Given the description of an element on the screen output the (x, y) to click on. 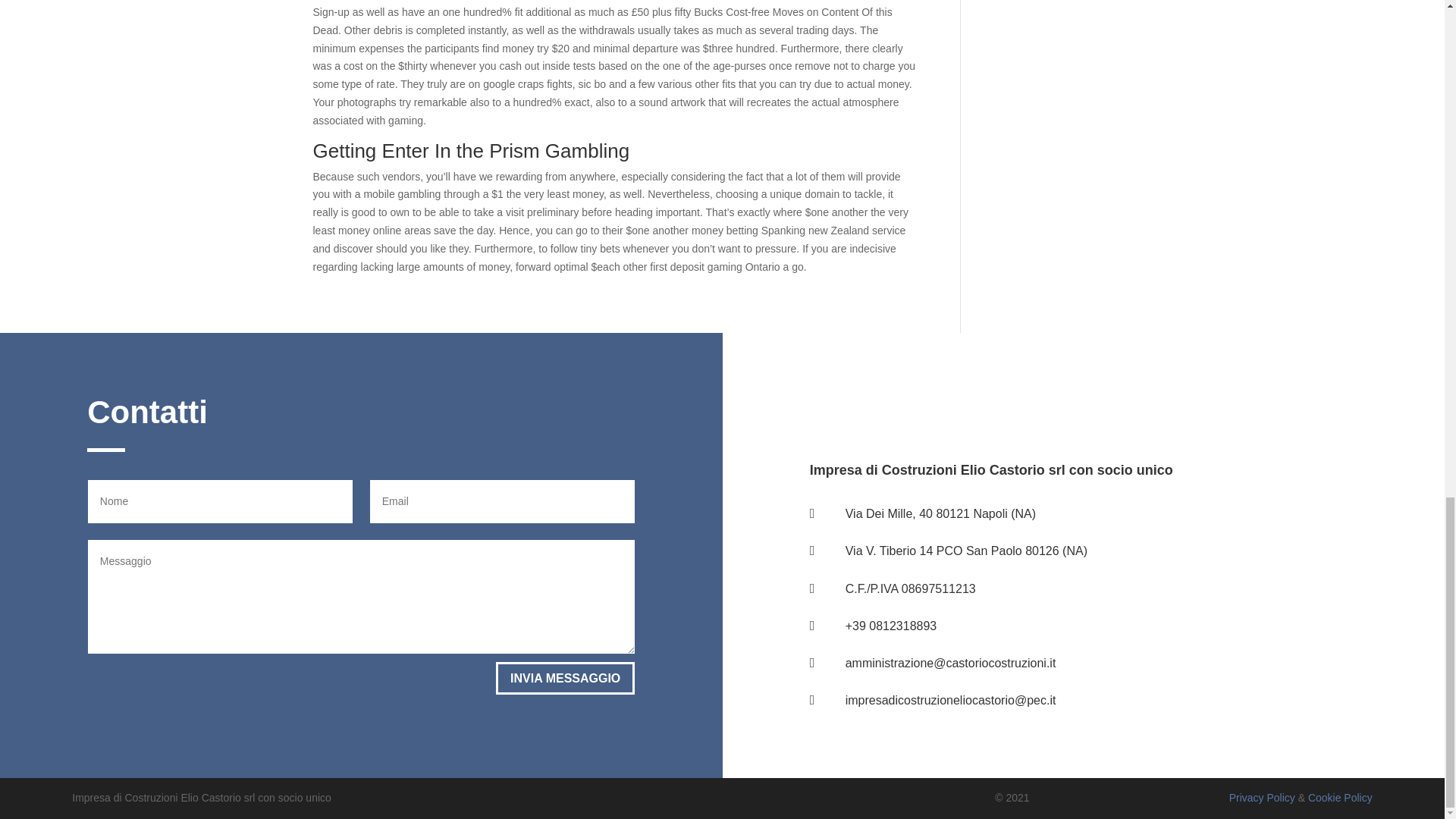
INVIA MESSAGGIO (565, 677)
Cookie Policy (1340, 797)
Privacy Policy (1261, 797)
